Given the description of an element on the screen output the (x, y) to click on. 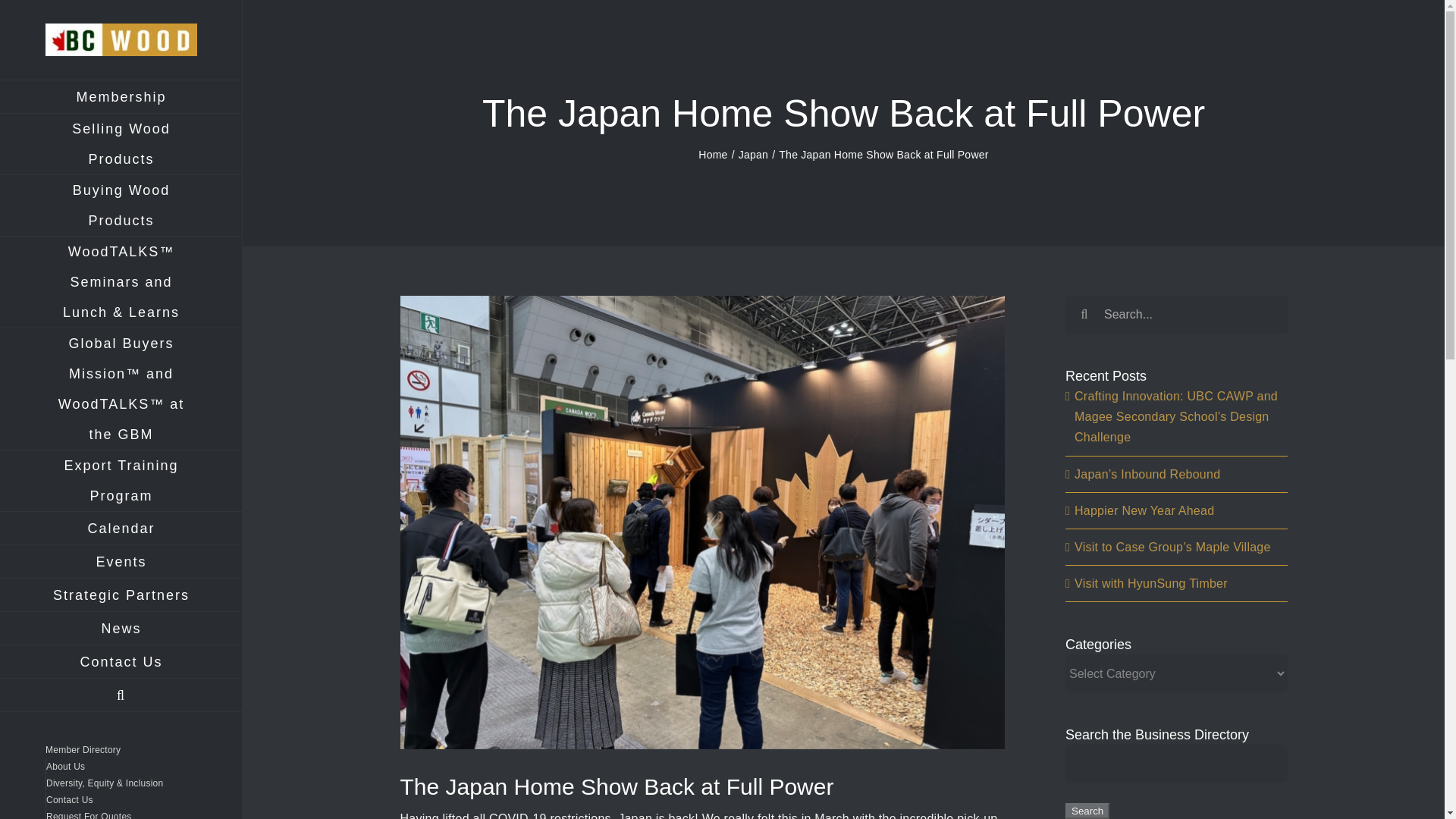
Calendar (121, 528)
Strategic Partners (121, 594)
Search (121, 694)
Search (1087, 811)
Membership (121, 96)
Events (121, 561)
About Us (121, 766)
Member Directory (120, 749)
Contact Us (121, 661)
Buying Wood Products (121, 205)
